Given the description of an element on the screen output the (x, y) to click on. 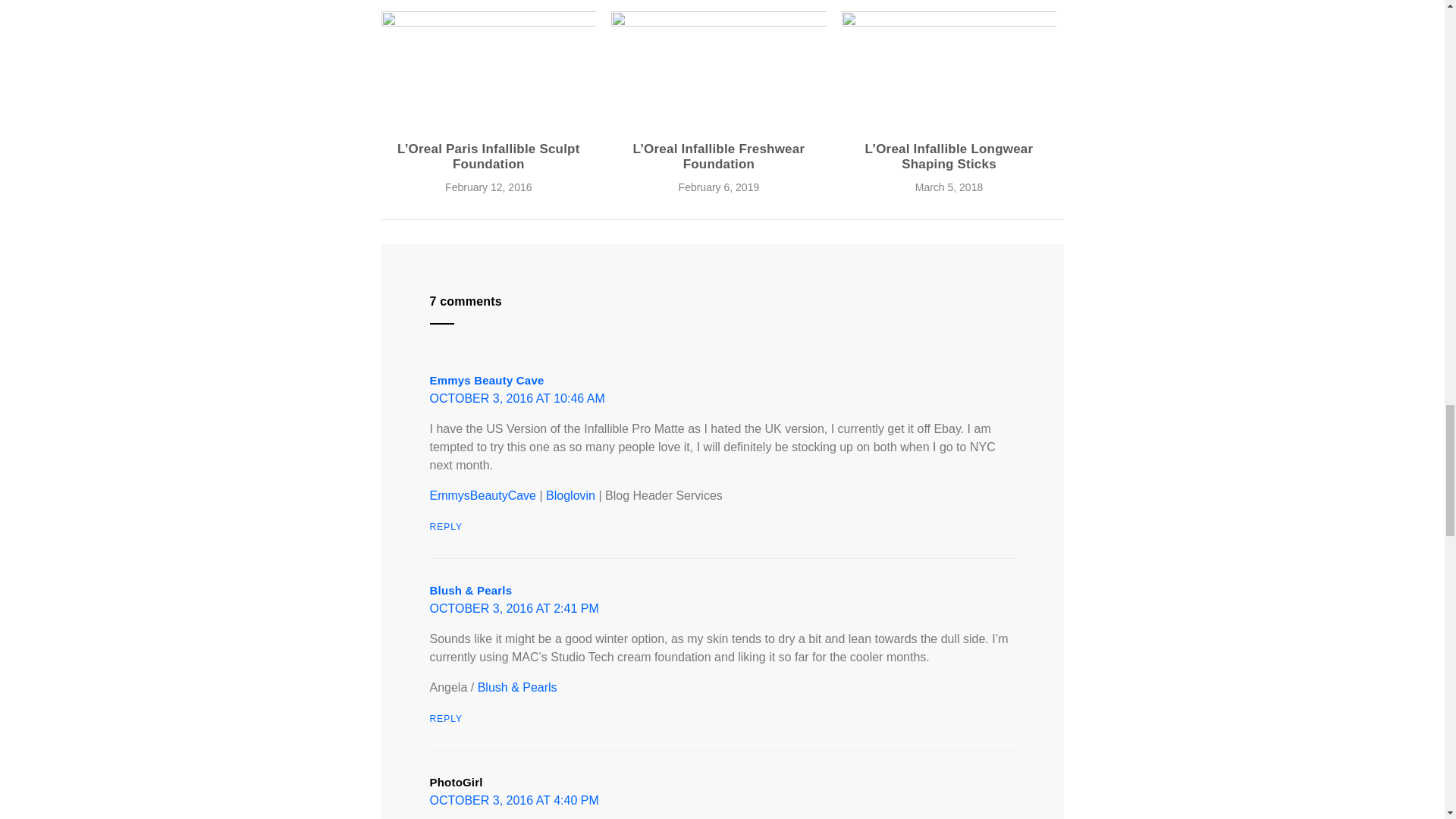
OCTOBER 3, 2016 AT 2:41 PM (513, 608)
Bloglovin (570, 495)
REPLY (445, 718)
OCTOBER 3, 2016 AT 10:46 AM (516, 398)
OCTOBER 3, 2016 AT 4:40 PM (513, 799)
EmmysBeautyCave (482, 495)
Emmys Beauty Cave (486, 379)
REPLY (445, 526)
